Given the description of an element on the screen output the (x, y) to click on. 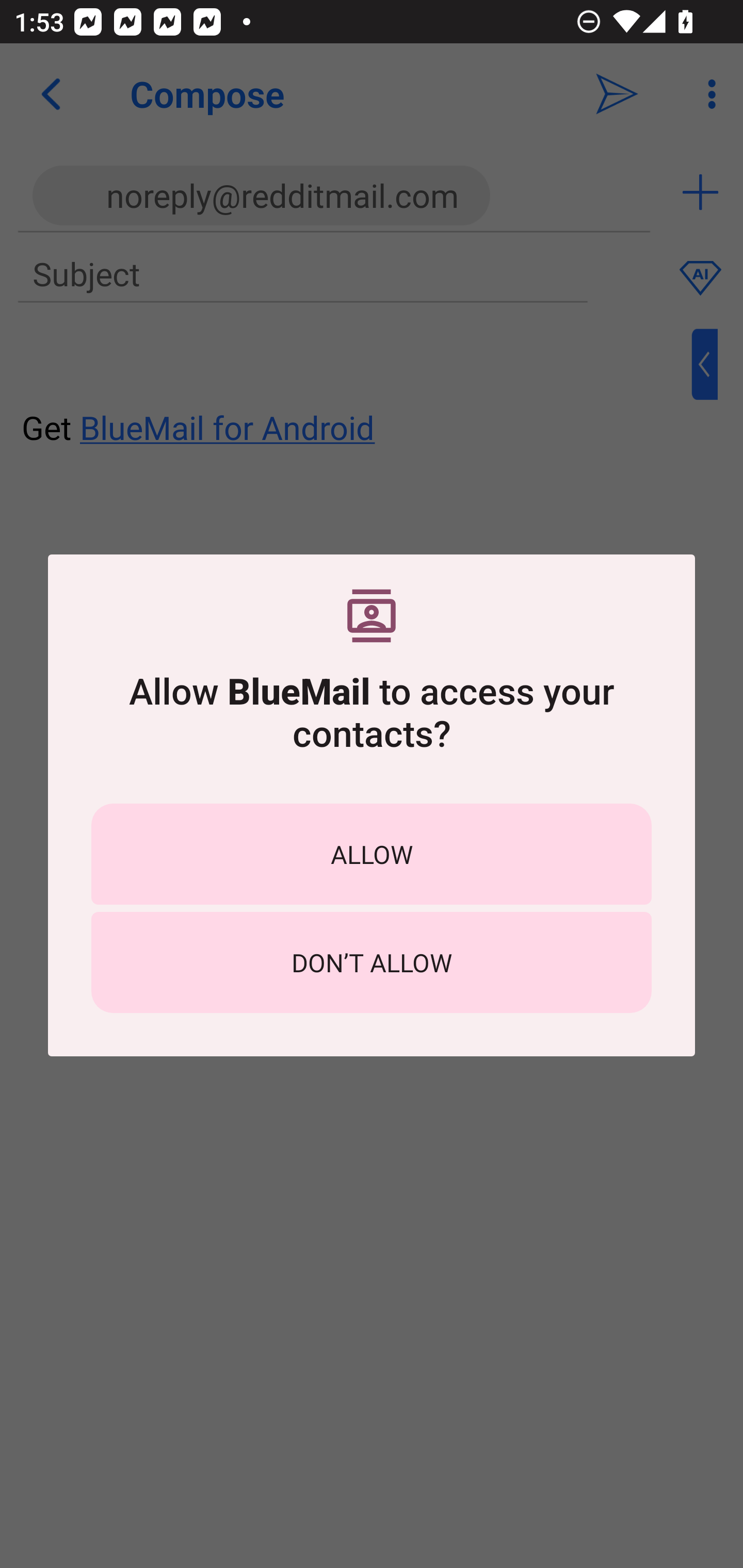
ALLOW (371, 853)
DON’T ALLOW (371, 962)
